Given the description of an element on the screen output the (x, y) to click on. 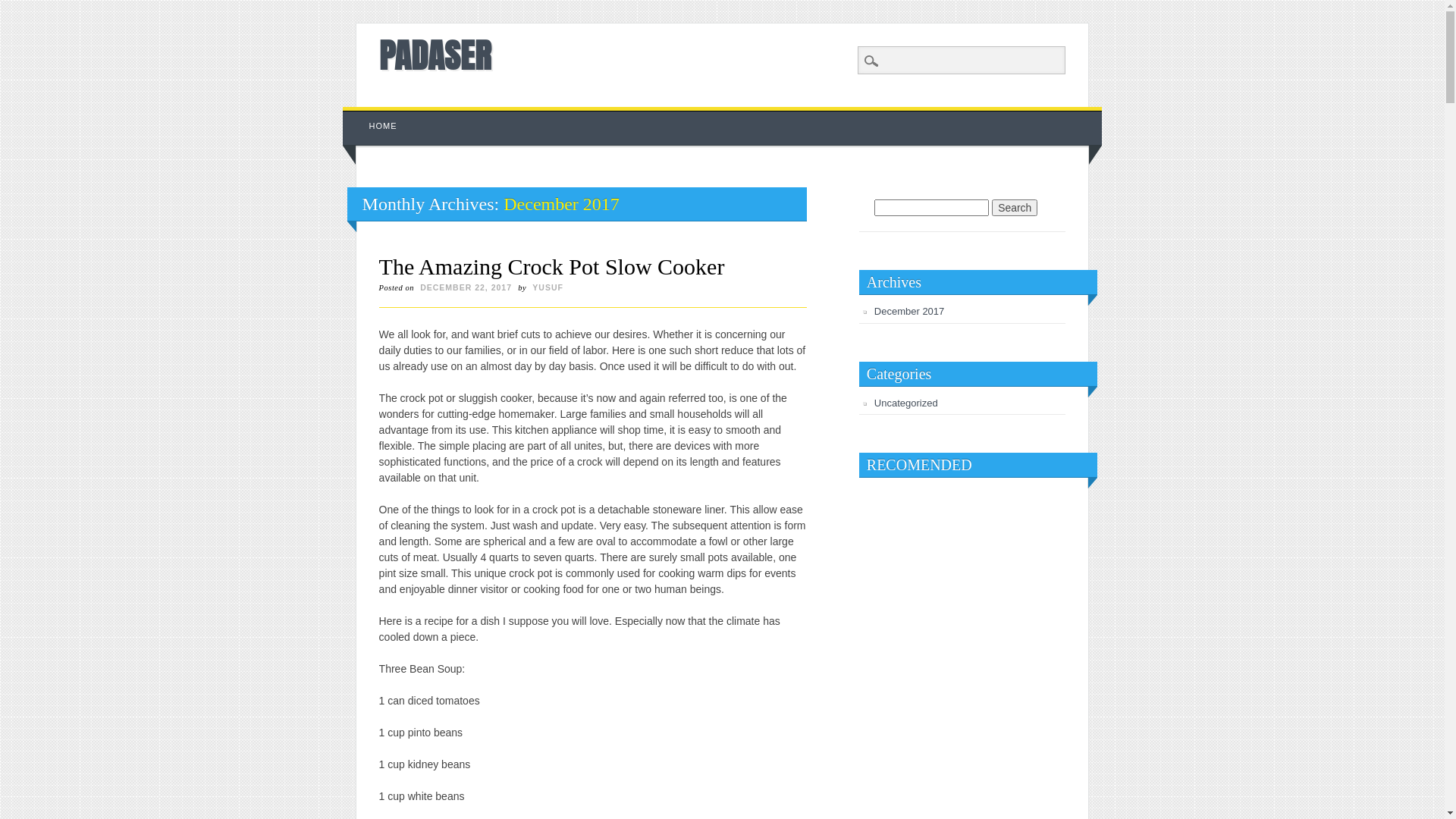
DECEMBER 22, 2017 Element type: text (465, 286)
Search Element type: text (1014, 207)
YUSUF Element type: text (547, 286)
Search Element type: text (22, 8)
Uncategorized Element type: text (906, 402)
December 2017 Element type: text (909, 310)
Skip to content Element type: text (377, 114)
PADASER Element type: text (434, 55)
The Amazing Crock Pot Slow Cooker Element type: text (551, 266)
HOME Element type: text (383, 125)
